Given the description of an element on the screen output the (x, y) to click on. 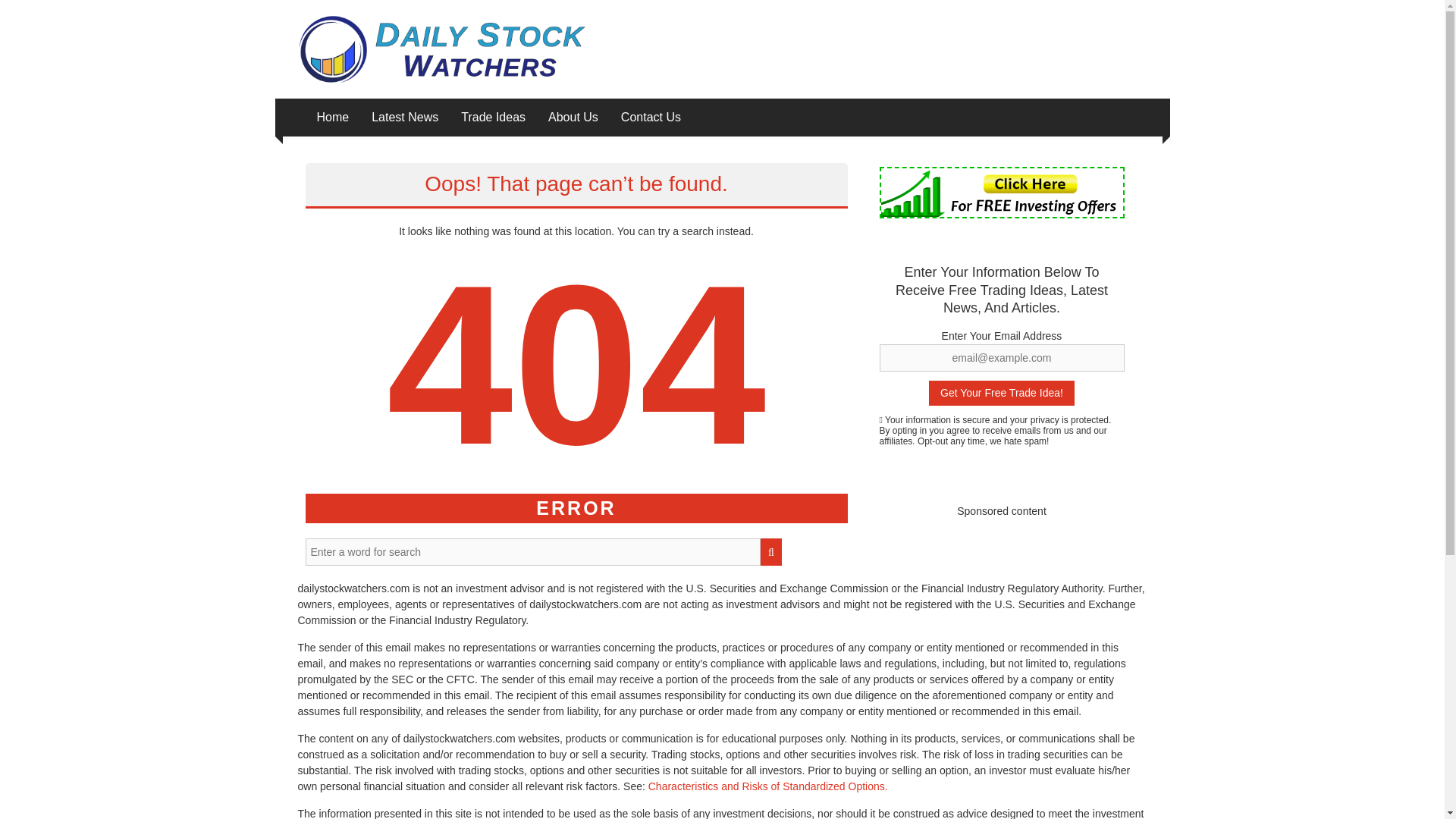
Contact Us (651, 117)
Latest News (404, 117)
Trade Ideas (493, 117)
About Us (573, 117)
Get Your Free Trade Idea! (1001, 392)
Characteristics and Risks of Standardized Options. (767, 786)
